Given the description of an element on the screen output the (x, y) to click on. 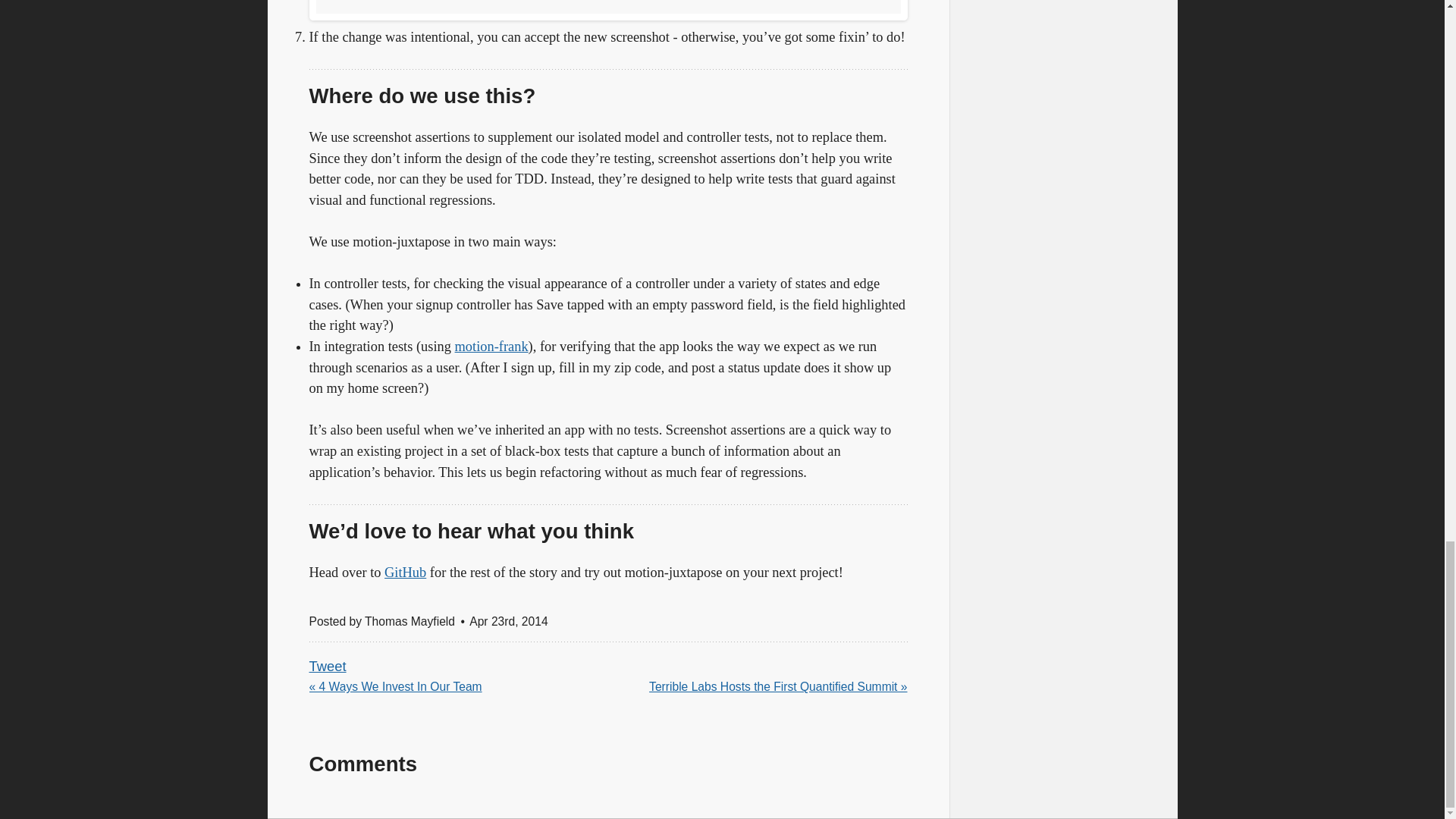
Tweet (327, 666)
Diff view of screenshots. (607, 10)
Previous Post: 4 Ways We Invest In Our Team (394, 686)
GitHub (405, 572)
motion-frank (491, 346)
Next Post: Terrible Labs Hosts the First Quantified Summit (778, 686)
